Given the description of an element on the screen output the (x, y) to click on. 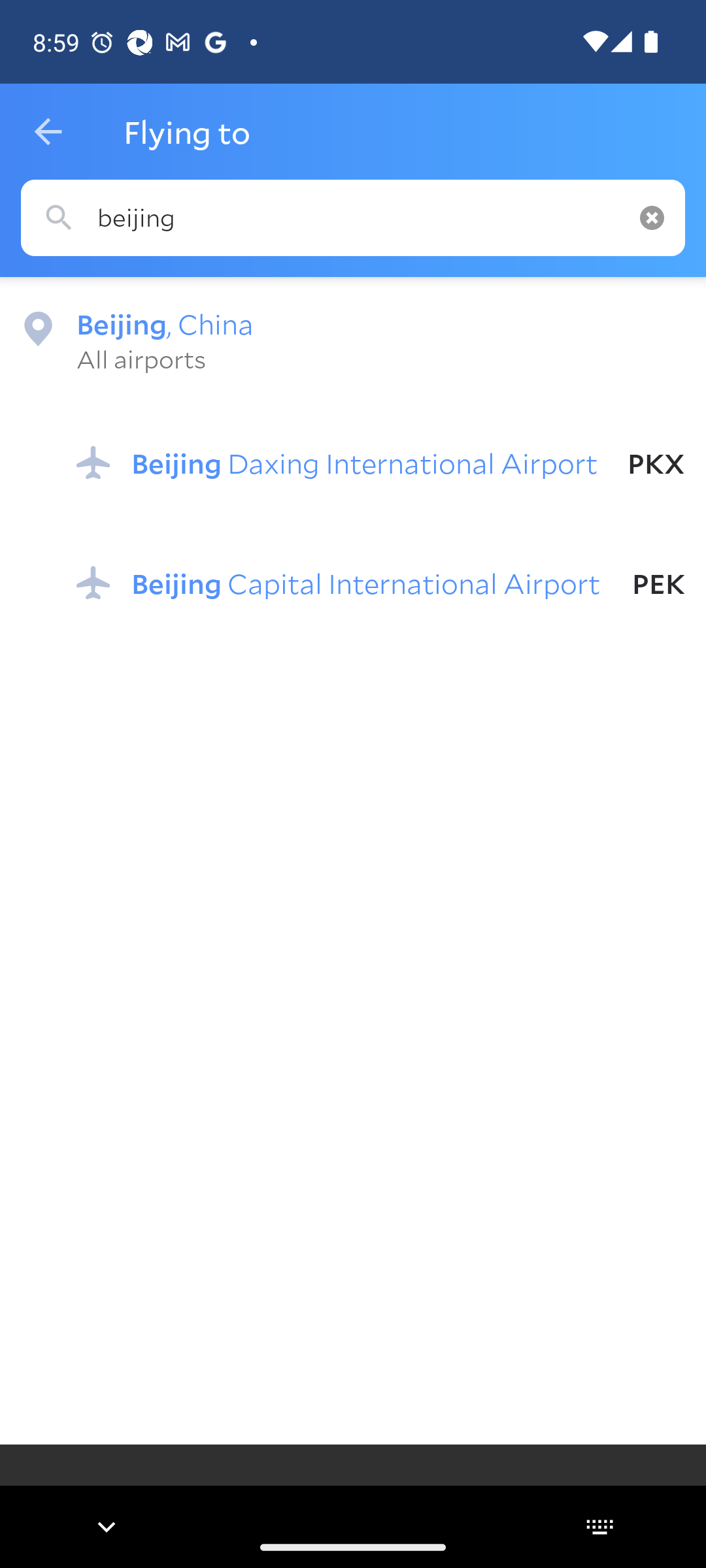
Navigate up (48, 131)
beijing (352, 217)
Beijing, China All airports (353, 339)
Beijing Daxing International Airport PKX (380, 462)
Beijing Capital International Airport PEK (380, 582)
